Given the description of an element on the screen output the (x, y) to click on. 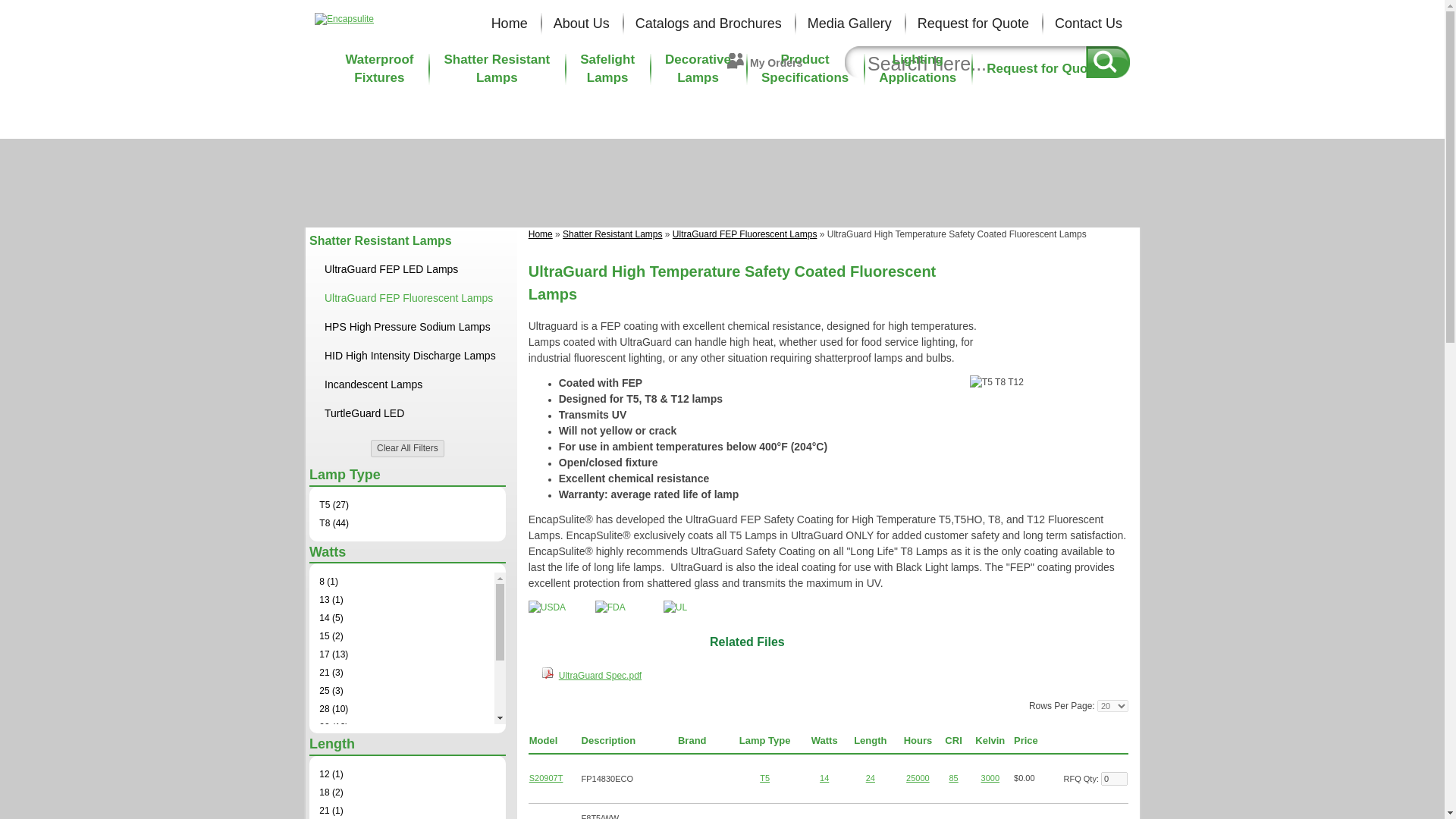
Set Filter (823, 777)
Set Filter (989, 777)
About Us (581, 23)
My Orders (775, 63)
Catalogs and Brochures (708, 23)
Set Filter (870, 777)
0 (1113, 778)
Set Filter (765, 777)
Request for Quote (973, 23)
Set Filter (917, 777)
